Given the description of an element on the screen output the (x, y) to click on. 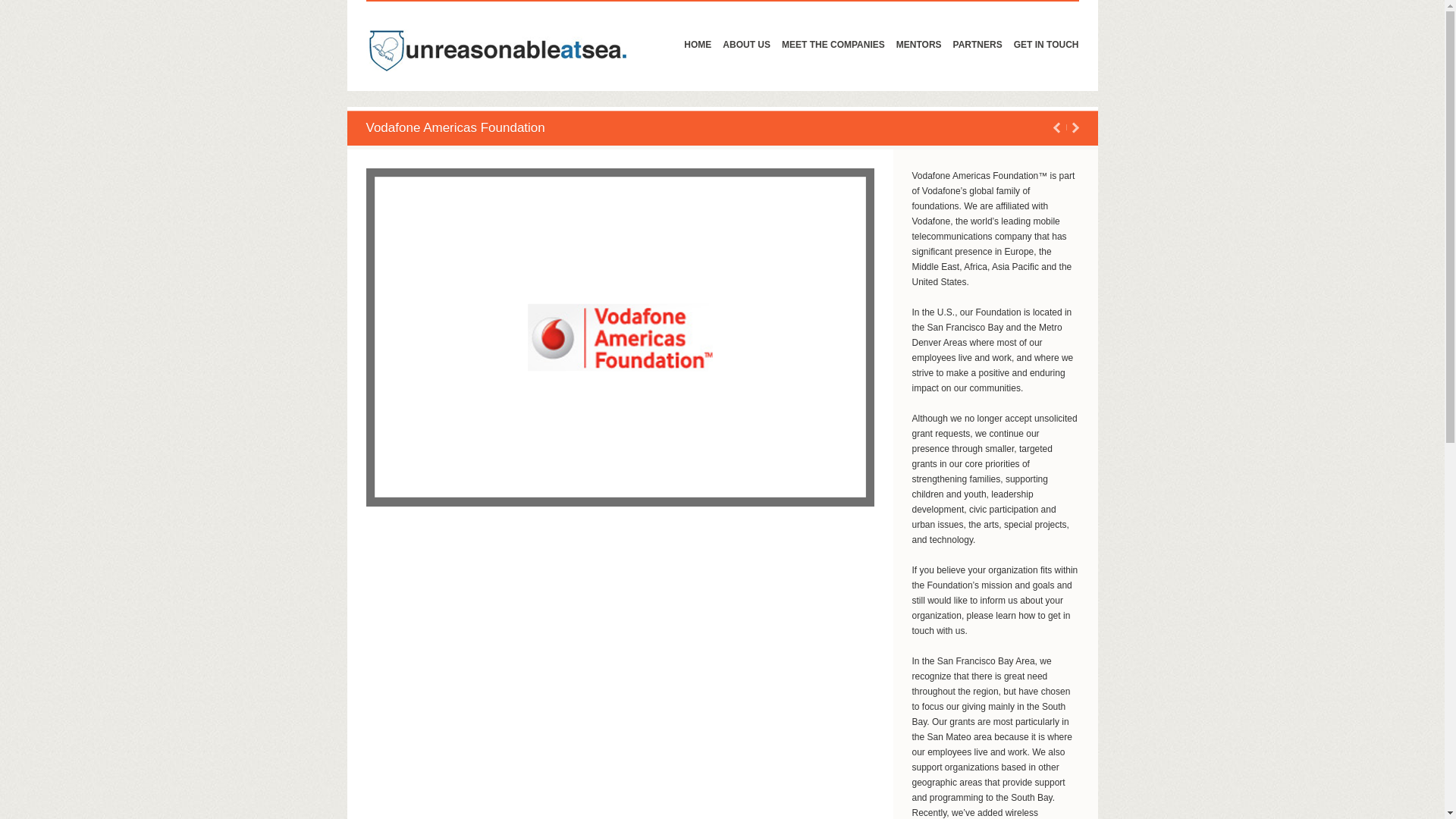
MENTORS (919, 44)
Big New Ideas (1056, 127)
Co-Creation Hub: Nigeria (1074, 127)
ABOUT US (746, 44)
HOME (697, 44)
GET IN TOUCH (1045, 44)
PARTNERS (978, 44)
MEET THE COMPANIES (833, 44)
